Given the description of an element on the screen output the (x, y) to click on. 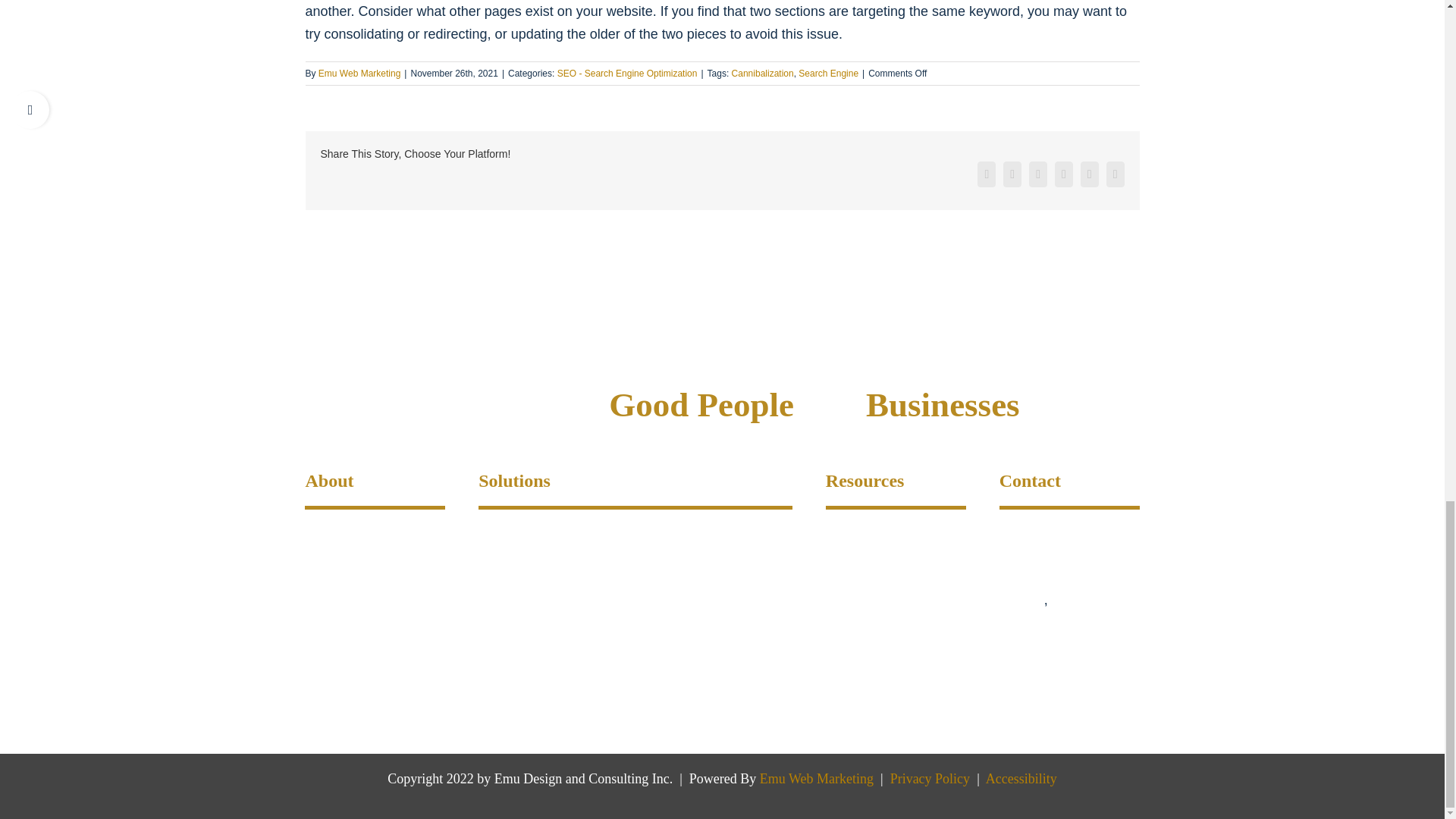
Emu-Logo-2019-Horizonta-Whitel (708, 325)
Search Engine (828, 72)
SEO - Search Engine Optimization (627, 72)
Cannibalization (762, 72)
Emu Web Marketing (359, 72)
Posts by Emu Web Marketing (359, 72)
